Given the description of an element on the screen output the (x, y) to click on. 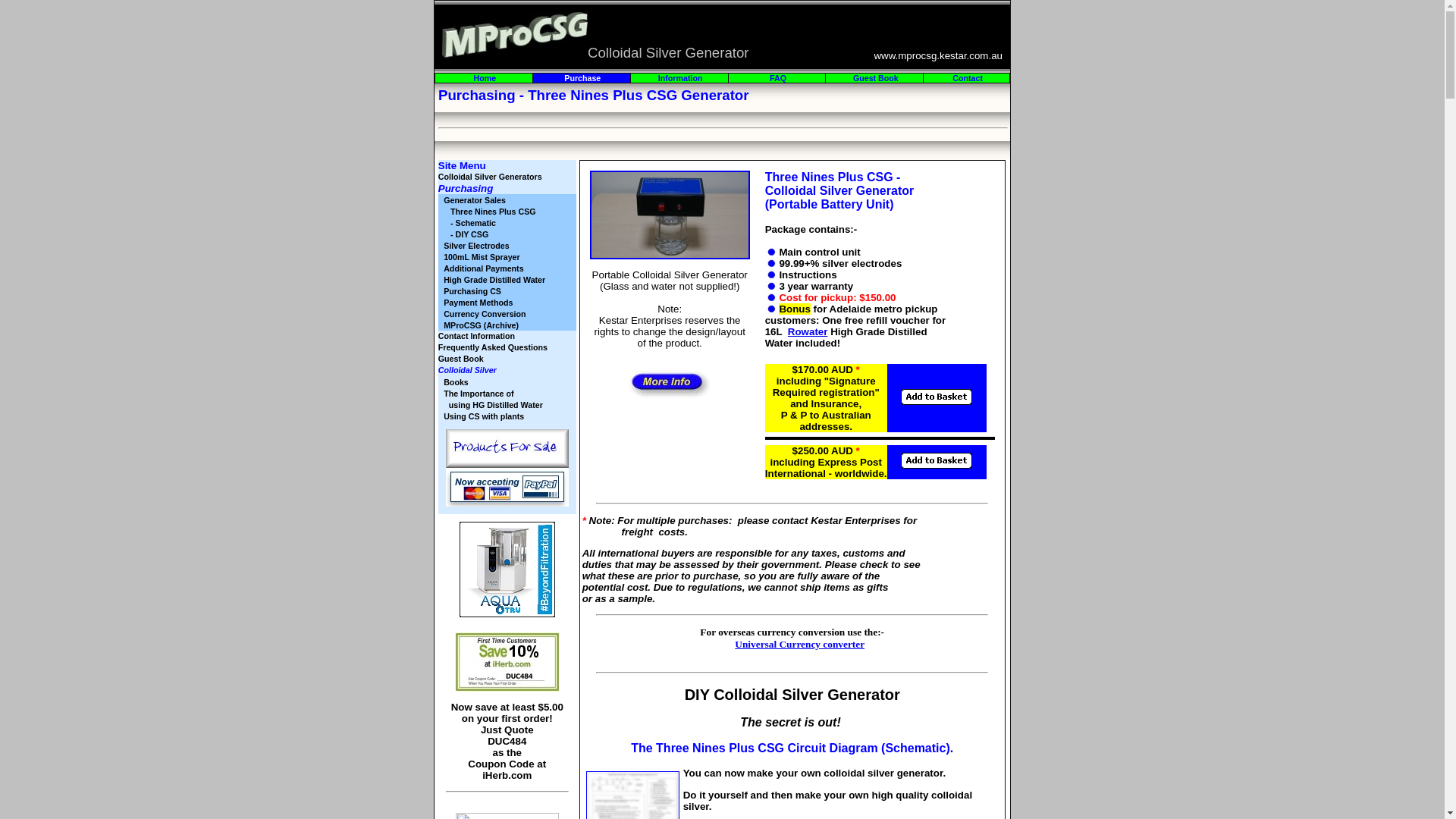
Additional Payments Element type: text (483, 268)
Rowater Element type: text (807, 331)
Information Element type: text (680, 77)
   Three Nines Plus CSG Element type: text (489, 210)
Generator Sales Element type: text (474, 199)
Silver Electrodes Element type: text (475, 245)
 using HG Distilled Water Element type: text (494, 404)
MProCSG (Archive) Element type: text (480, 324)
Universal Currency converter Element type: text (799, 643)
Colloidal Silver Generators  Element type: text (491, 176)
Contact Element type: text (967, 77)
The Importance of Element type: text (478, 392)
   - Schematic Element type: text (469, 222)
Frequently Asked Questions Element type: text (492, 346)
Payment Methods Element type: text (477, 301)
Guest Book Element type: text (875, 77)
Books Element type: text (455, 381)
Contact Information Element type: text (476, 335)
Currency Conversion Element type: text (484, 313)
Using CS with plants Element type: text (483, 415)
FAQ Element type: text (777, 77)
100mL Mist Sprayer Element type: text (481, 255)
Guest Book Element type: text (460, 358)
Home Element type: text (484, 77)
High Grade Distilled Water Element type: text (494, 278)
   - DIY CSG Element type: text (465, 233)
Purchasing CS Element type: text (472, 290)
Purchase Element type: text (582, 77)
